Given the description of an element on the screen output the (x, y) to click on. 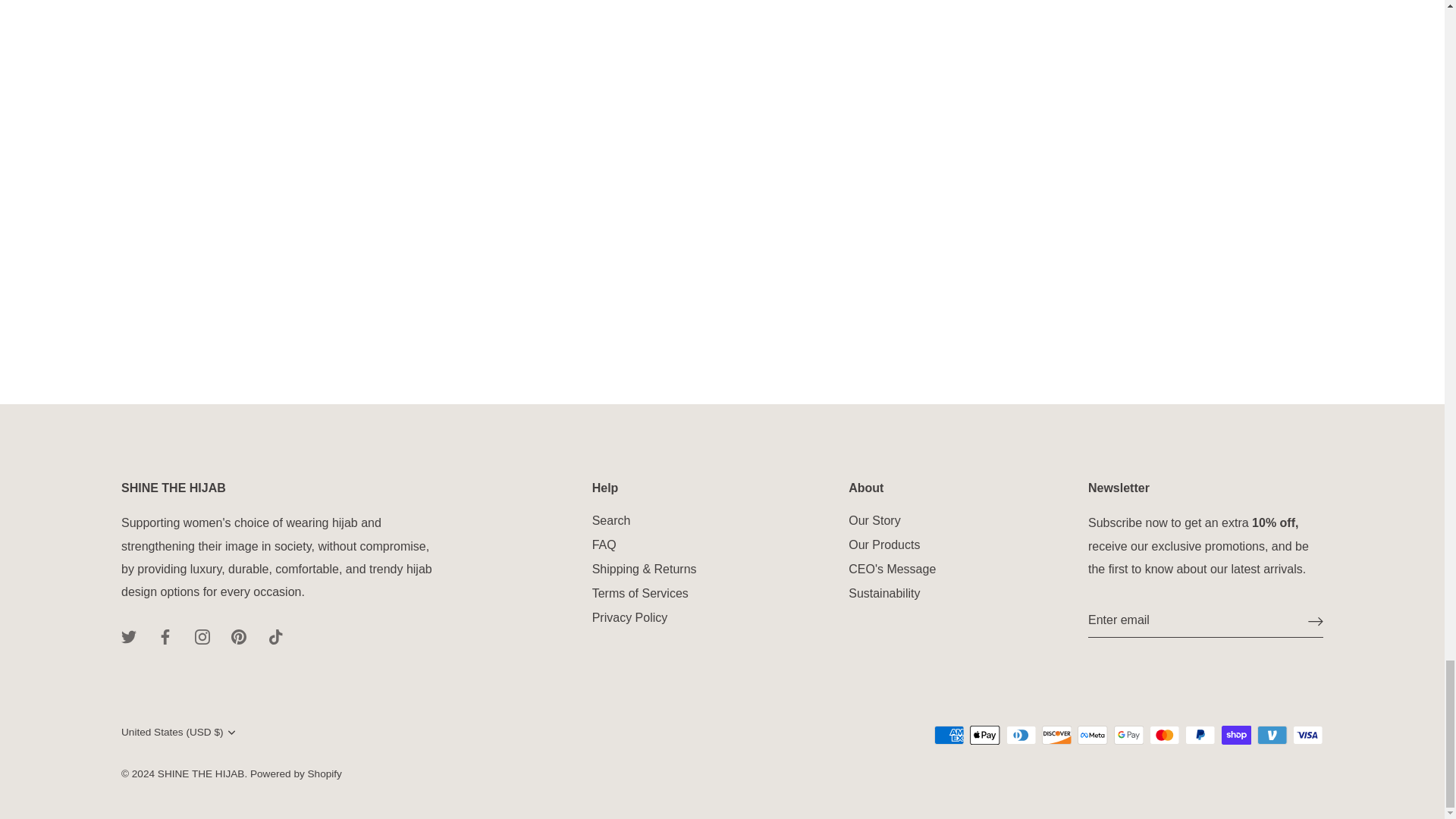
Apple Pay (984, 734)
Meta Pay (1092, 734)
American Express (948, 734)
Shop Pay (1236, 734)
Discover (1056, 734)
Venmo (1272, 734)
Diners Club (1021, 734)
Visa (1307, 734)
Instagram (202, 636)
Google Pay (1128, 734)
